Given the description of an element on the screen output the (x, y) to click on. 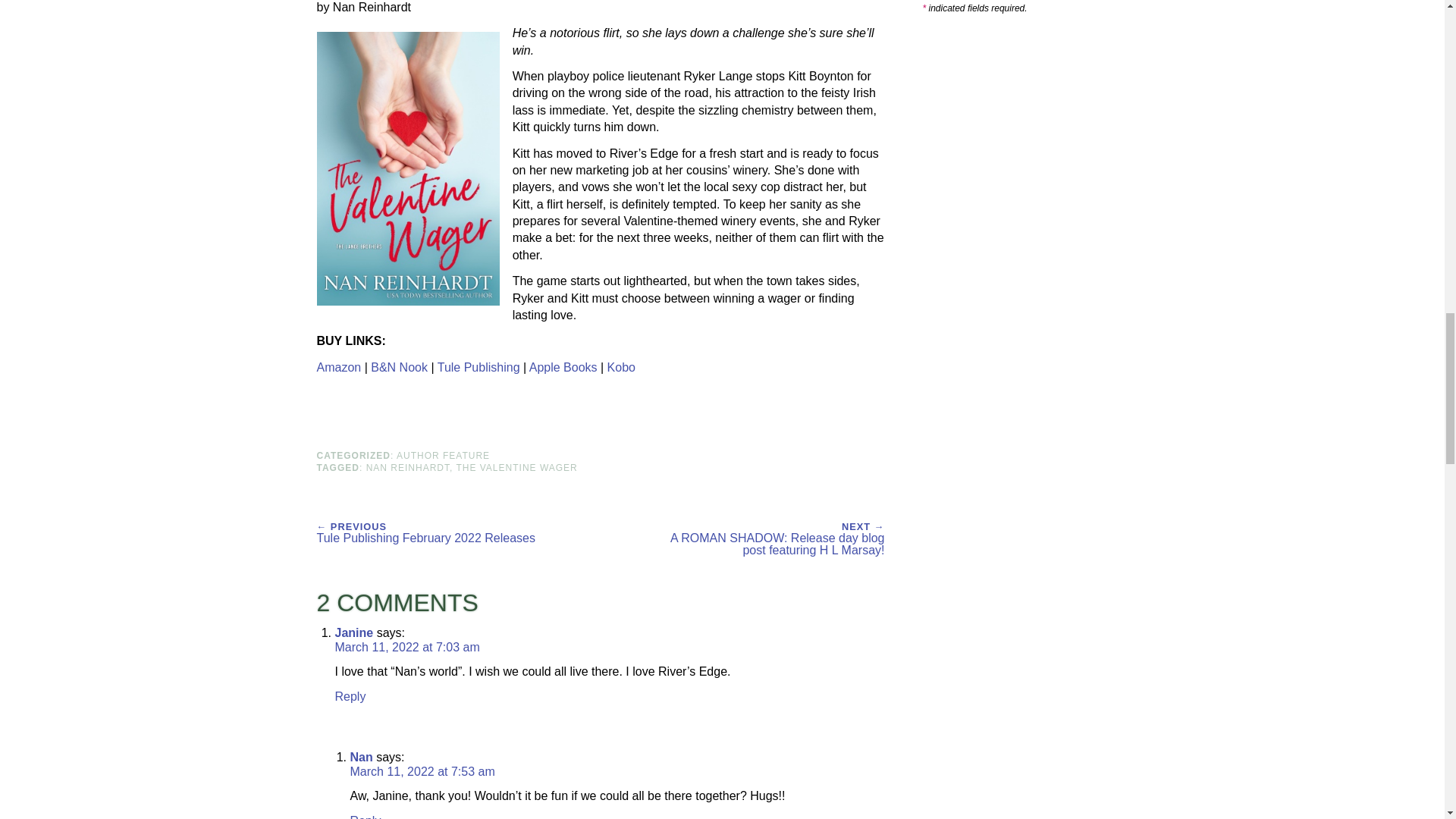
Amazon (339, 367)
Apple Books (562, 367)
Kobo (620, 367)
Janine (354, 632)
THE VALENTINE WAGER (515, 467)
NAN REINHARDT (407, 467)
Tule Publishing (478, 367)
AUTHOR FEATURE (442, 455)
